Given the description of an element on the screen output the (x, y) to click on. 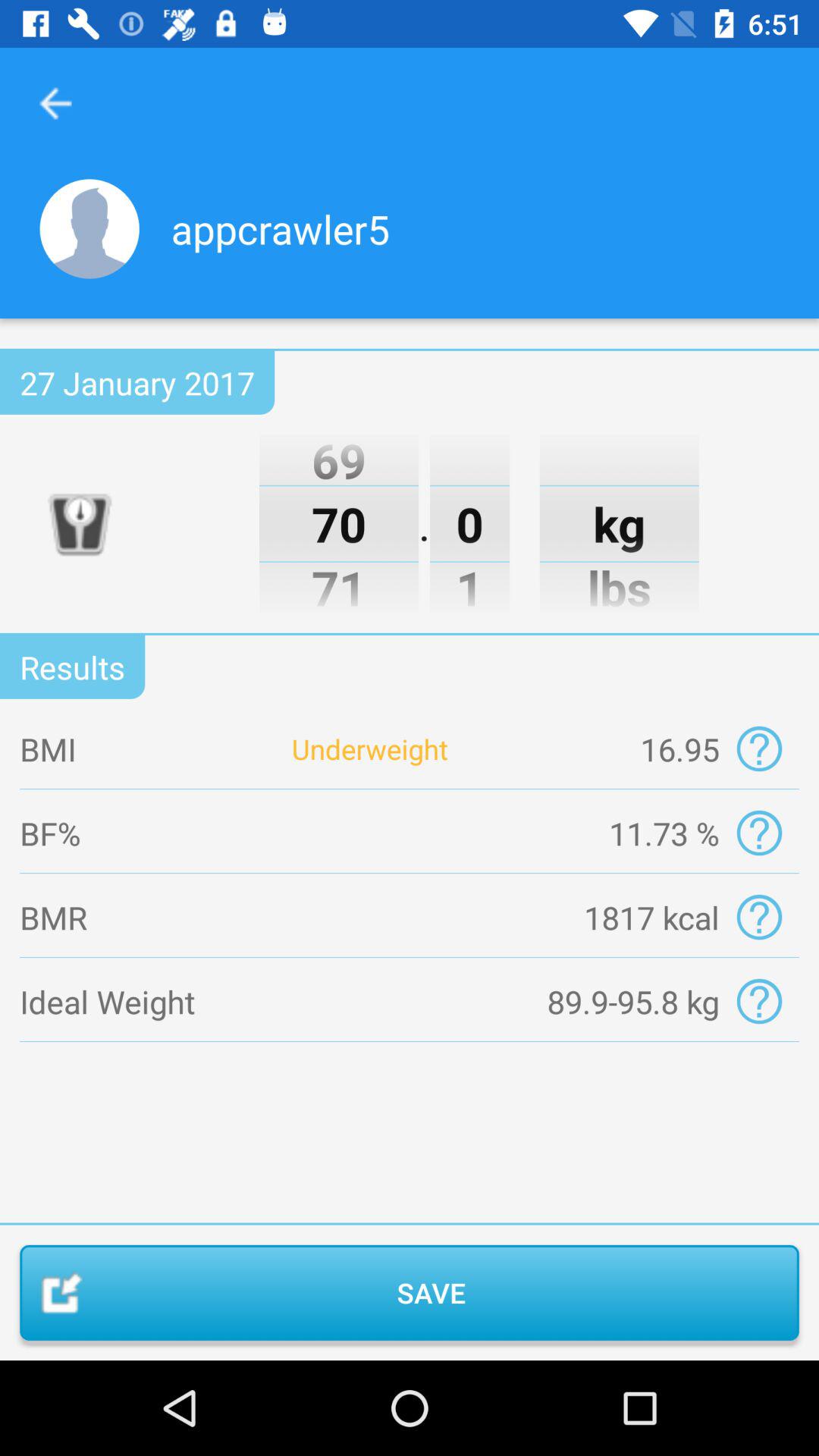
swipe to the save (409, 1292)
